Given the description of an element on the screen output the (x, y) to click on. 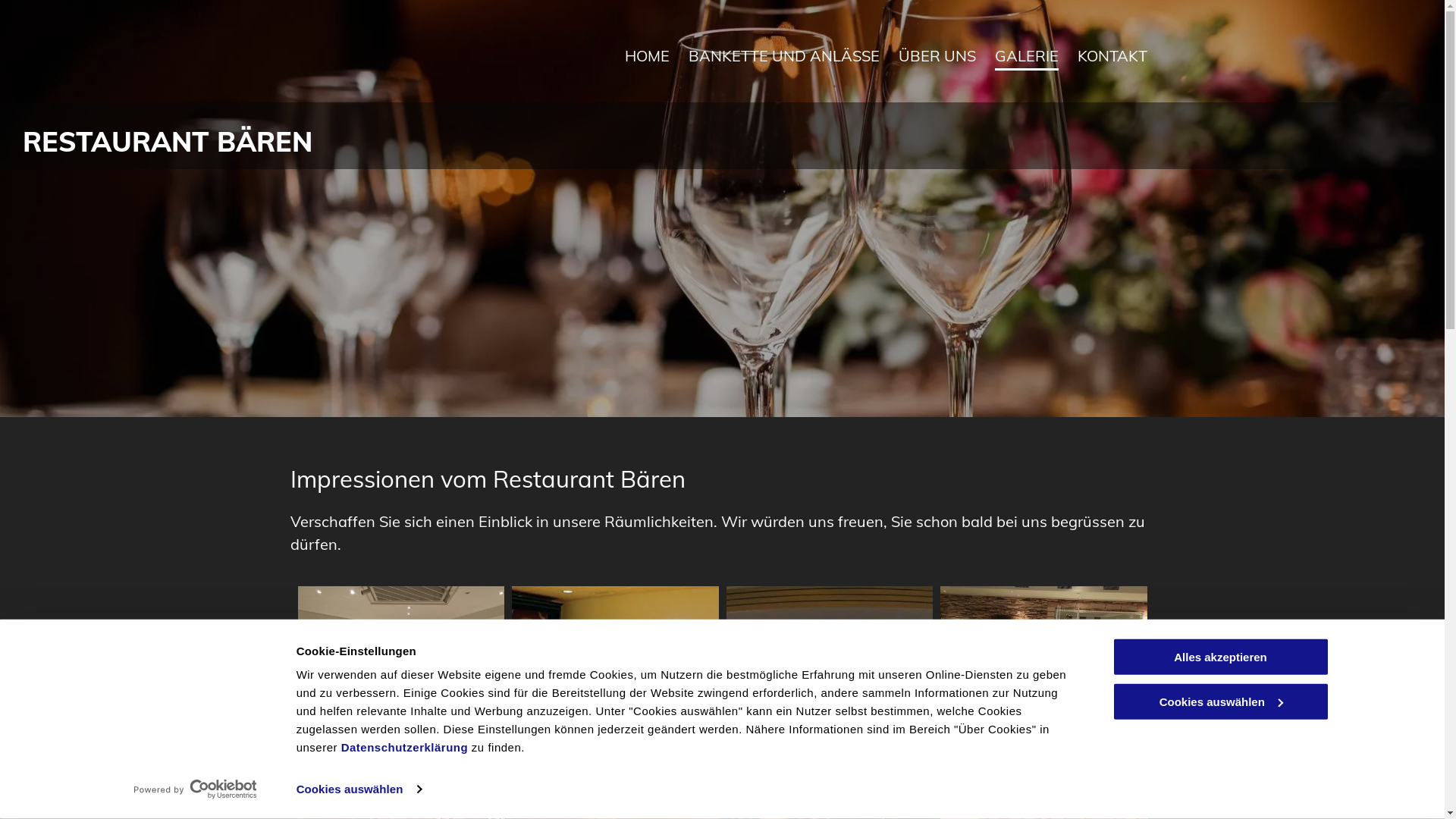
HOME Element type: text (646, 53)
KONTAKT Element type: text (1111, 53)
Alles akzeptieren Element type: text (1219, 656)
GALERIE Element type: text (1026, 53)
